Given the description of an element on the screen output the (x, y) to click on. 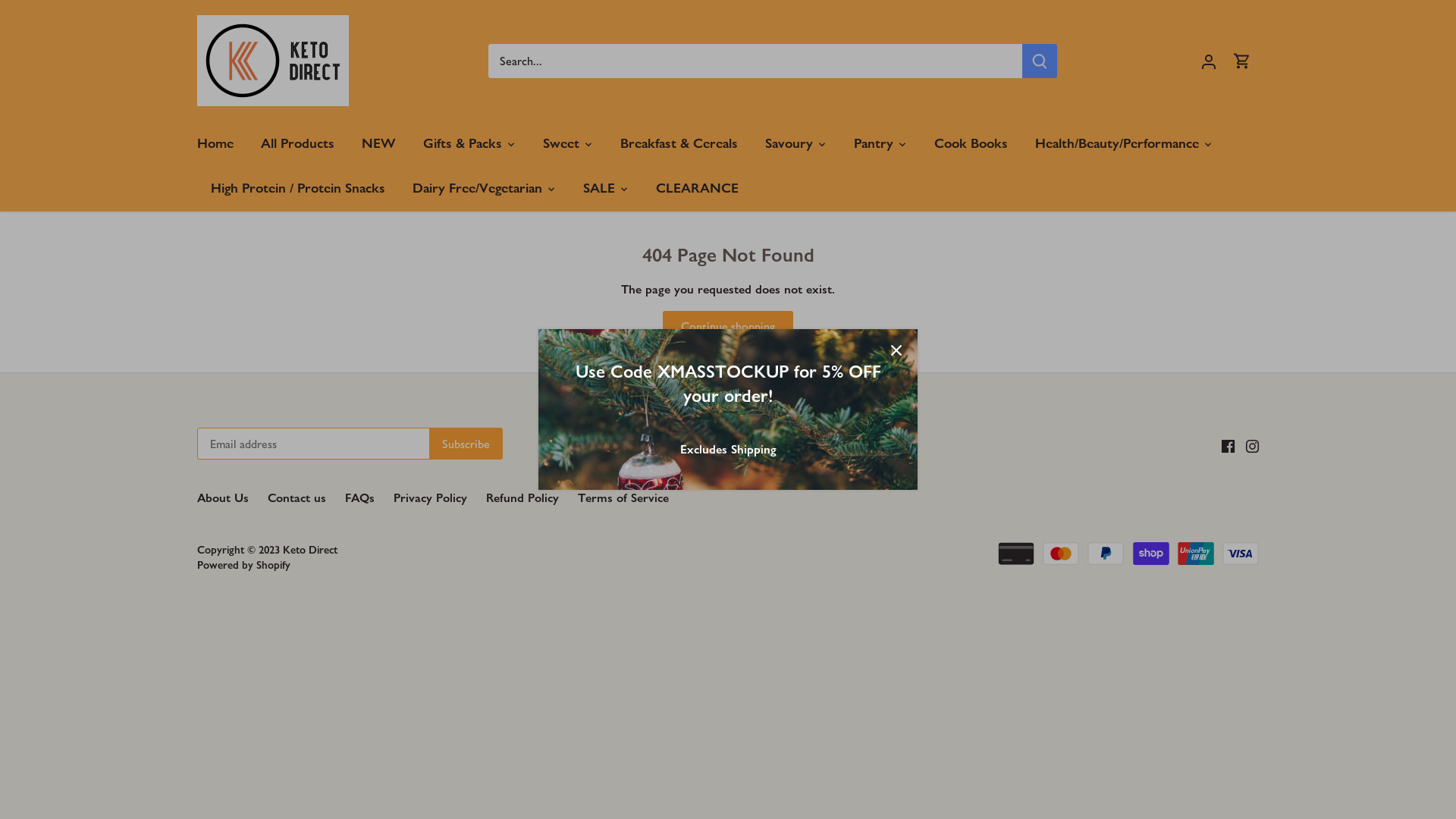
Contact us Element type: text (296, 497)
Subscribe Element type: text (465, 443)
FAQs Element type: text (359, 497)
Cook Books Element type: text (970, 143)
Breakfast & Cereals Element type: text (678, 143)
Keto Direct Element type: text (309, 549)
Sweet Element type: text (561, 143)
Facebook Element type: text (1227, 444)
SALE Element type: text (598, 188)
Savoury Element type: text (788, 143)
Gifts & Packs Element type: text (462, 143)
Home Element type: text (222, 143)
Instagram Element type: text (1251, 444)
Powered by Shopify Element type: text (243, 564)
About Us Element type: text (222, 497)
Dairy Free/Vegetarian Element type: text (476, 188)
Continue shopping Element type: text (727, 326)
CLEARANCE Element type: text (697, 188)
Terms of Service Element type: text (622, 497)
Health/Beauty/Performance Element type: text (1116, 143)
Pantry Element type: text (873, 143)
Privacy Policy Element type: text (430, 497)
All Products Element type: text (297, 143)
High Protein / Protein Snacks Element type: text (297, 188)
Refund Policy Element type: text (522, 497)
Back to the top Element type: text (727, 394)
NEW Element type: text (378, 143)
